Given the description of an element on the screen output the (x, y) to click on. 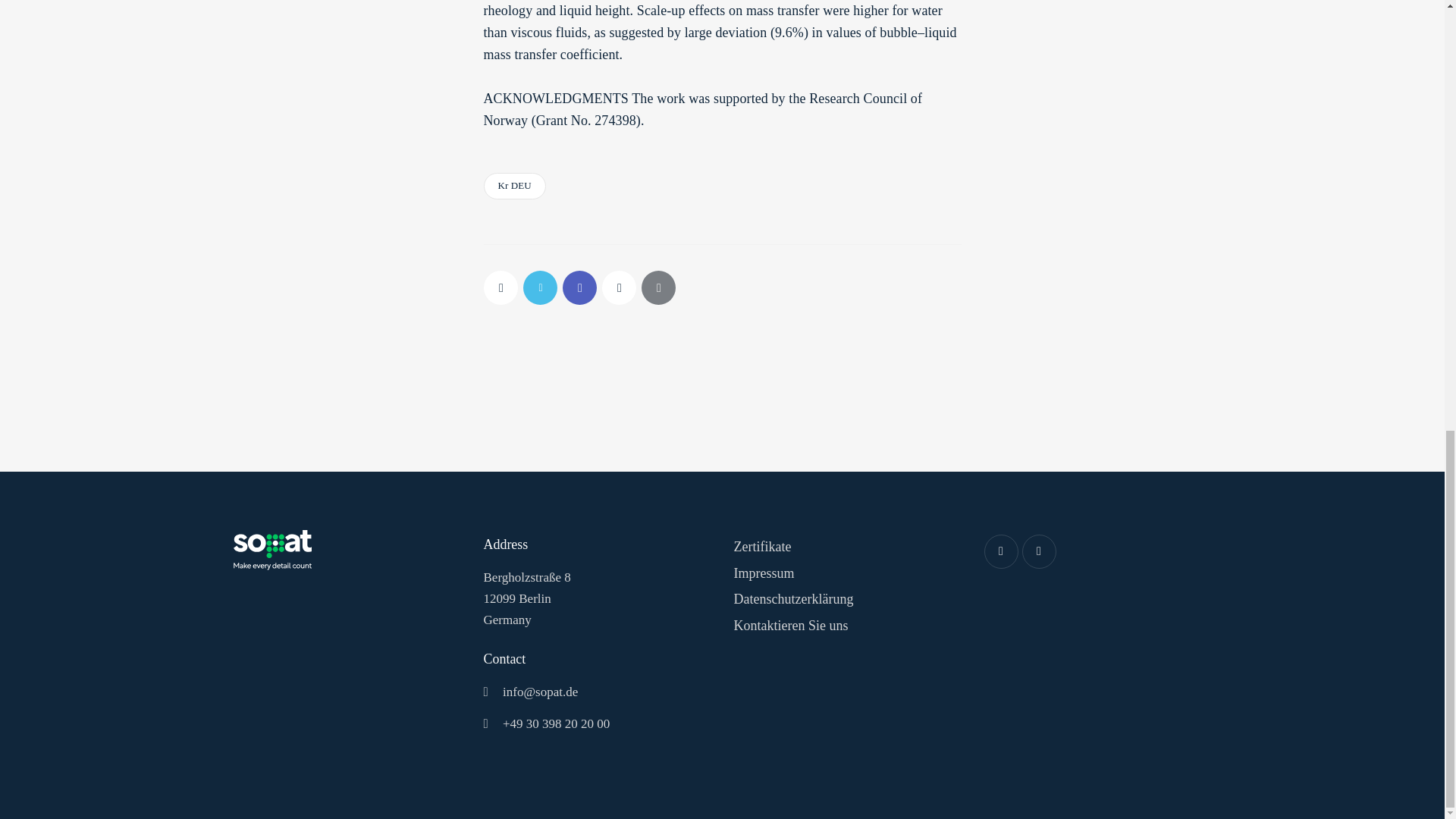
Copy URL to clipboard (619, 287)
